Given the description of an element on the screen output the (x, y) to click on. 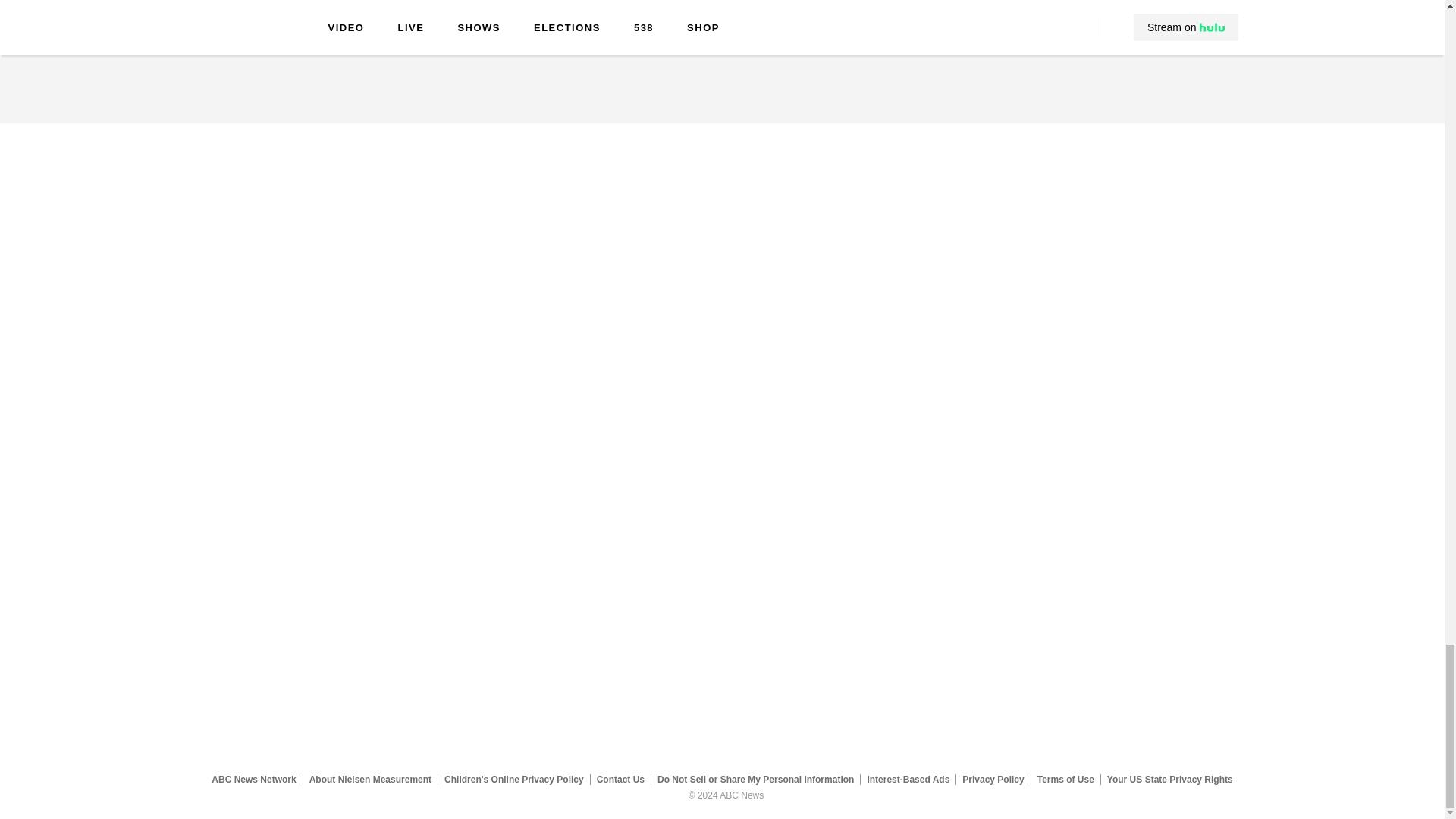
Your US State Privacy Rights (1169, 778)
Privacy Policy (993, 778)
Interest-Based Ads (908, 778)
ABC News Network (253, 778)
Do Not Sell or Share My Personal Information (755, 778)
Children's Online Privacy Policy (514, 778)
About Nielsen Measurement (370, 778)
Contact Us (620, 778)
Terms of Use (1065, 778)
